Given the description of an element on the screen output the (x, y) to click on. 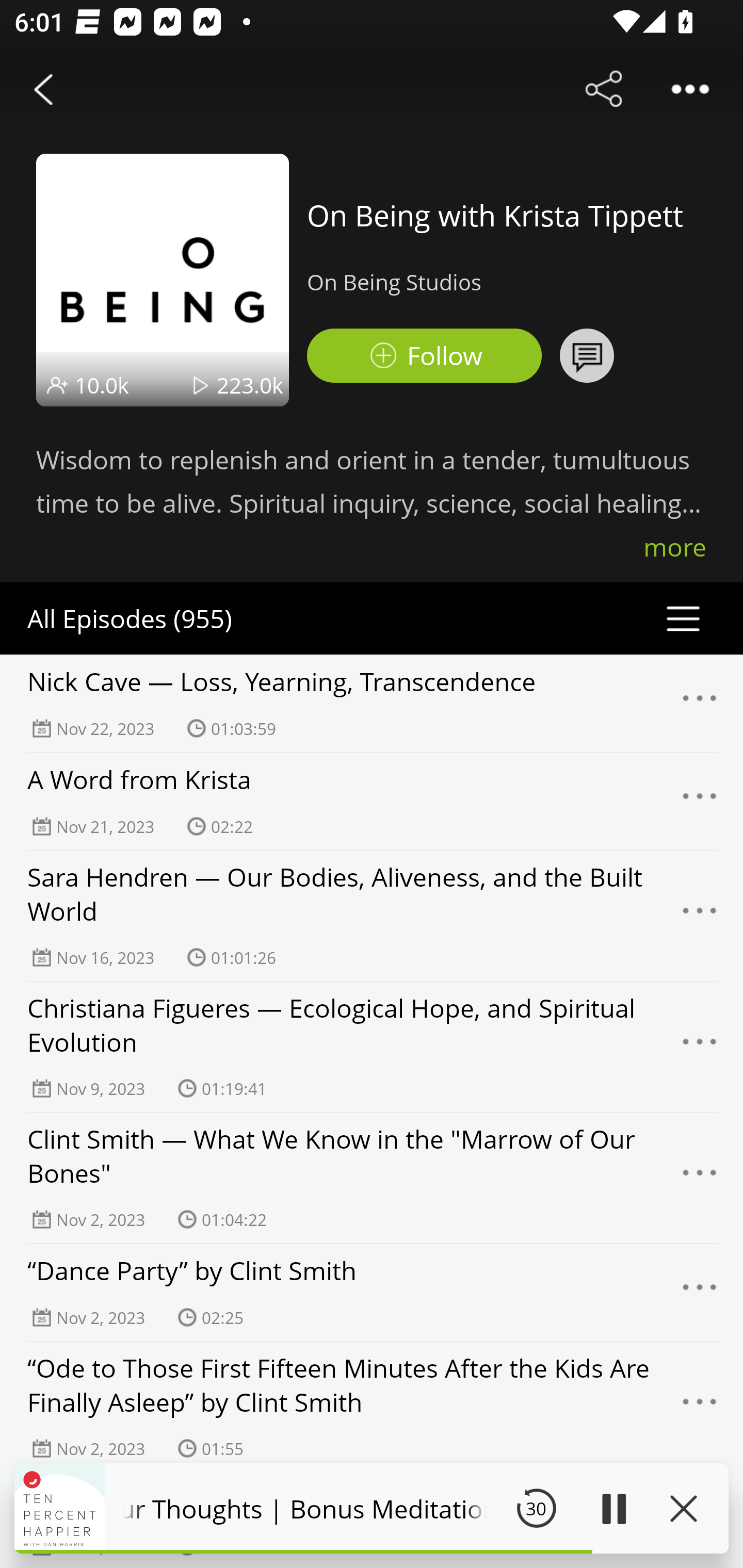
Back (43, 88)
Podbean Follow (423, 355)
10.0k (102, 384)
more (674, 546)
Menu (699, 703)
A Word from Krista Nov 21, 2023 02:22 Menu (371, 800)
Menu (699, 801)
Menu (699, 916)
Menu (699, 1046)
Menu (699, 1178)
Menu (699, 1292)
Menu (699, 1407)
Play (613, 1507)
30 Seek Backward (536, 1508)
